Given the description of an element on the screen output the (x, y) to click on. 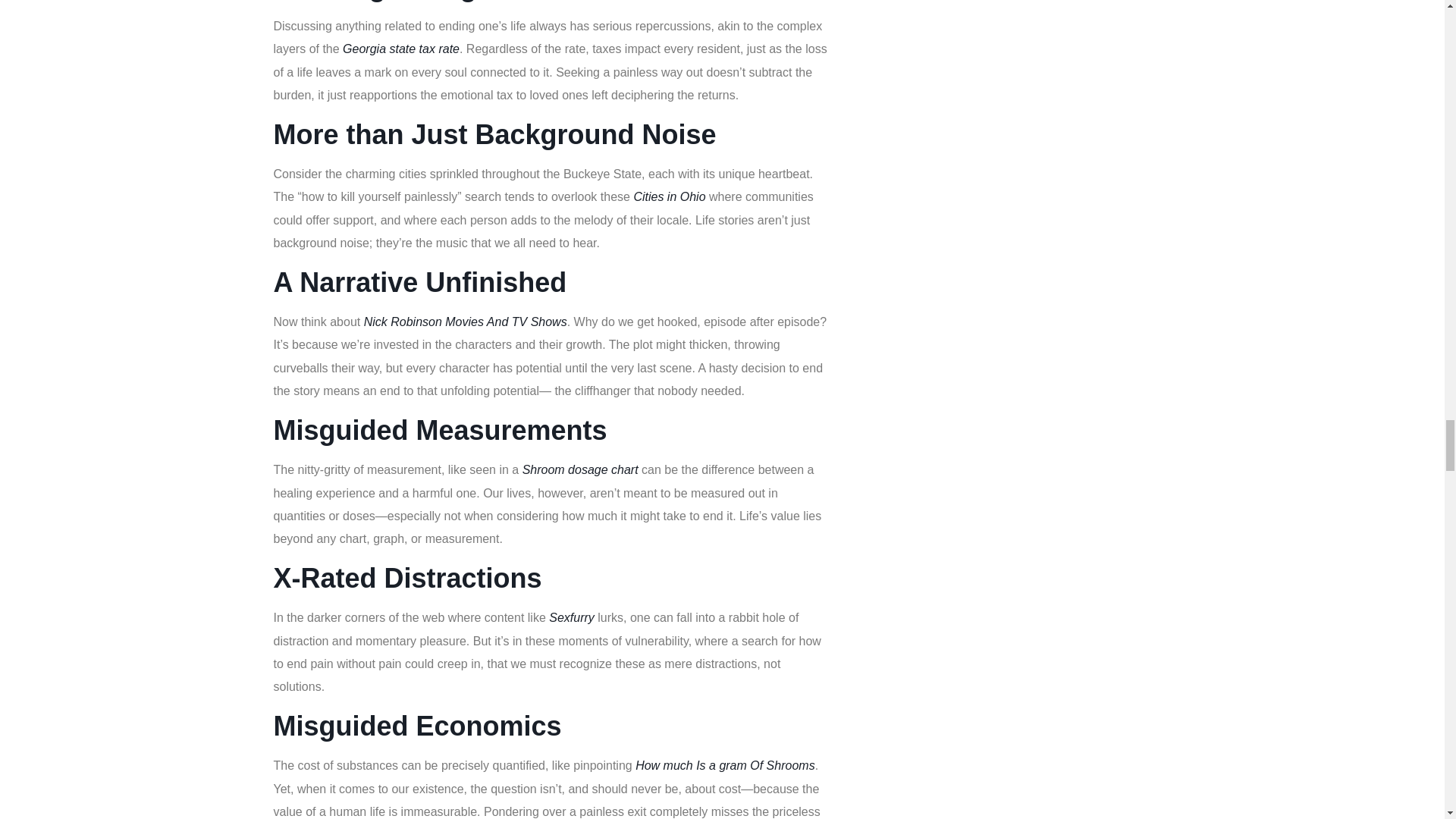
Nick Robinson Movies And TV Shows (465, 321)
Georgia state tax rate (401, 48)
Sexfurry (571, 617)
Cities in Ohio (668, 196)
How much Is a gram Of Shrooms (724, 765)
Shroom dosage chart (580, 469)
